Given the description of an element on the screen output the (x, y) to click on. 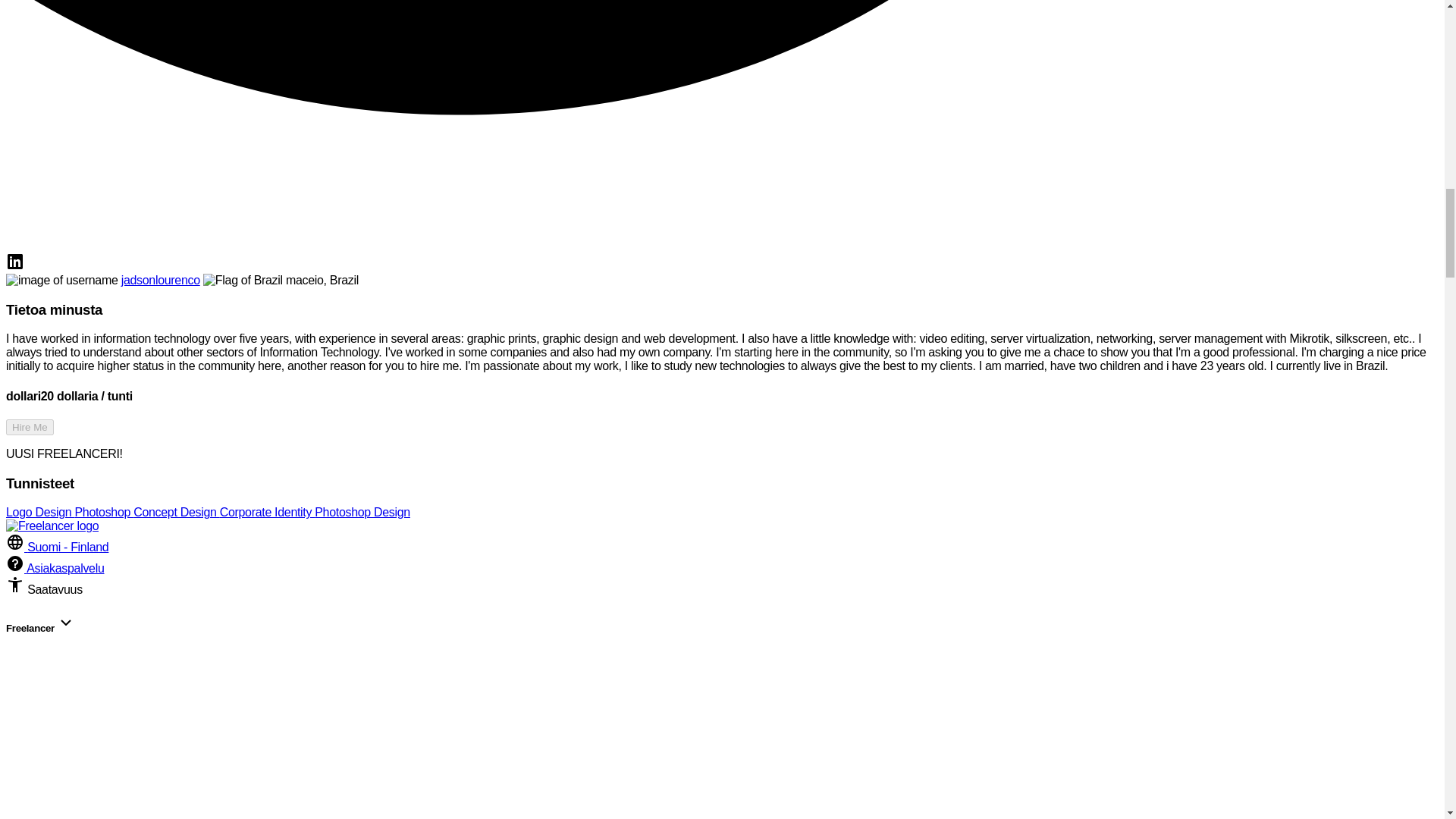
Asiakaspalvelu (54, 567)
Photoshop Design (362, 512)
Logo Design (39, 512)
Concept Design (176, 512)
Hire Me (29, 426)
jadsonlourenco (160, 279)
Flag of Brazil (242, 280)
Corporate Identity (267, 512)
Photoshop (103, 512)
Suomi - Finland (56, 546)
